Given the description of an element on the screen output the (x, y) to click on. 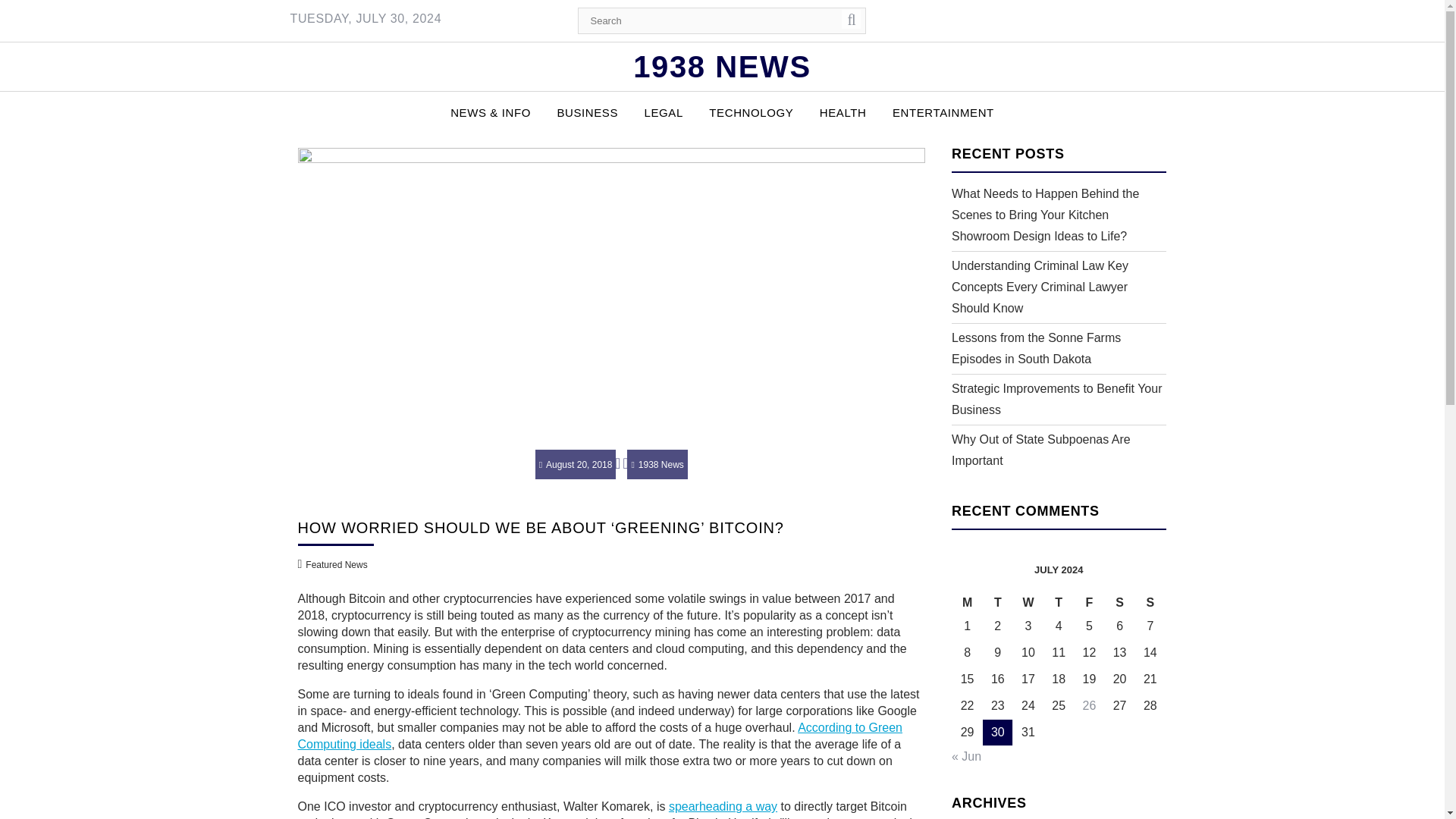
Friday (1088, 602)
Wednesday (1028, 602)
Featured News (335, 564)
TECHNOLOGY (751, 113)
26 (1089, 705)
August 20, 2018 (575, 464)
Monday (967, 602)
Lessons from the Sonne Farms Episodes in South Dakota (1036, 348)
spearheading a way (722, 806)
Tuesday (997, 602)
Thursday (1058, 602)
Why Out of State Subpoenas Are Important (1041, 449)
Strategic Improvements to Benefit Your Business (1056, 399)
HEALTH (842, 113)
